Given the description of an element on the screen output the (x, y) to click on. 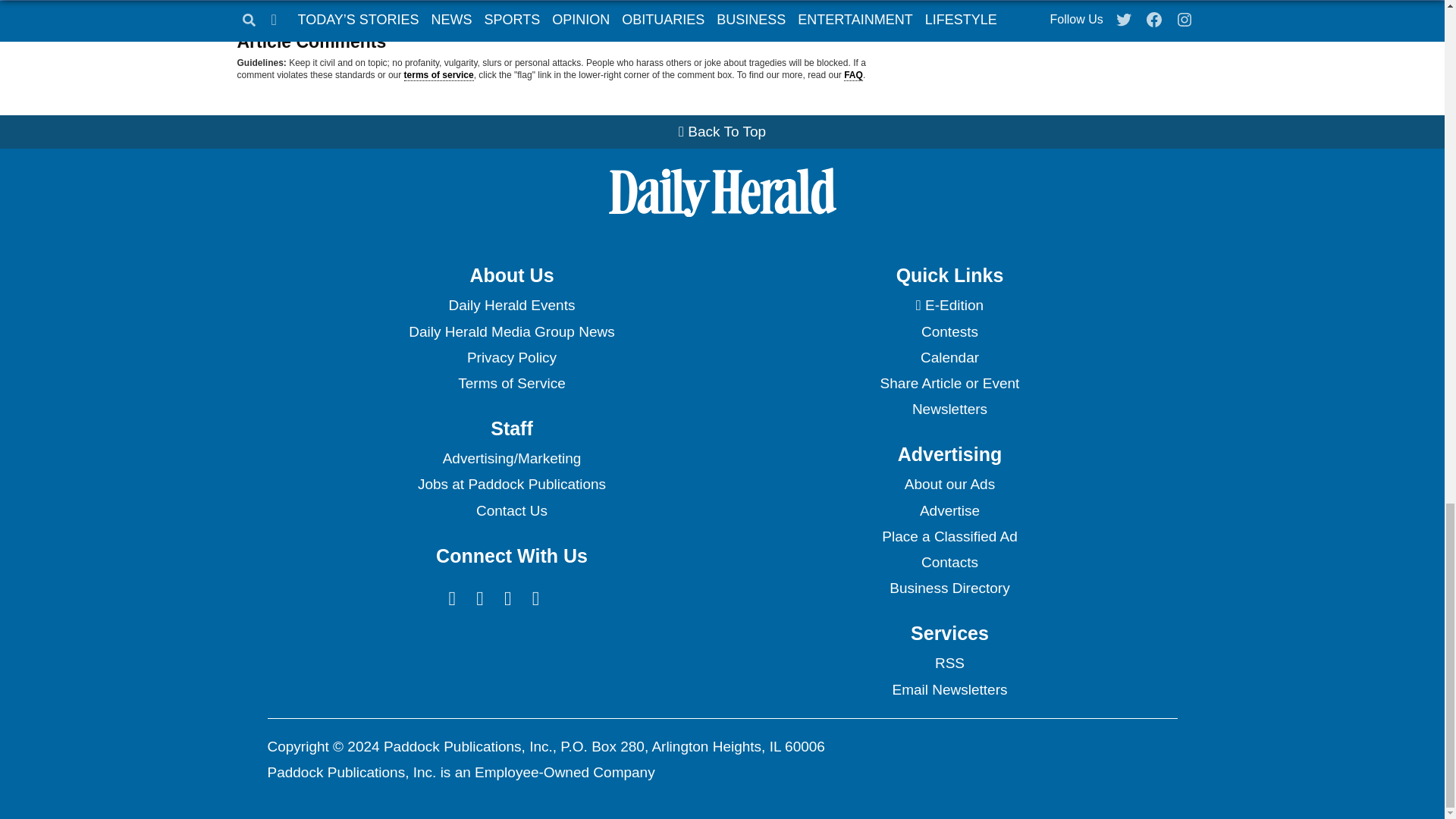
Contests (949, 331)
Daily Herald Digital Newspaper (949, 305)
Daily Herald Media Group News (511, 331)
Terms of Service (511, 383)
Privacy Policy (511, 357)
Jobs at Paddock Publications (511, 484)
Contact Us (511, 510)
Daily Herald Events (511, 305)
